Given the description of an element on the screen output the (x, y) to click on. 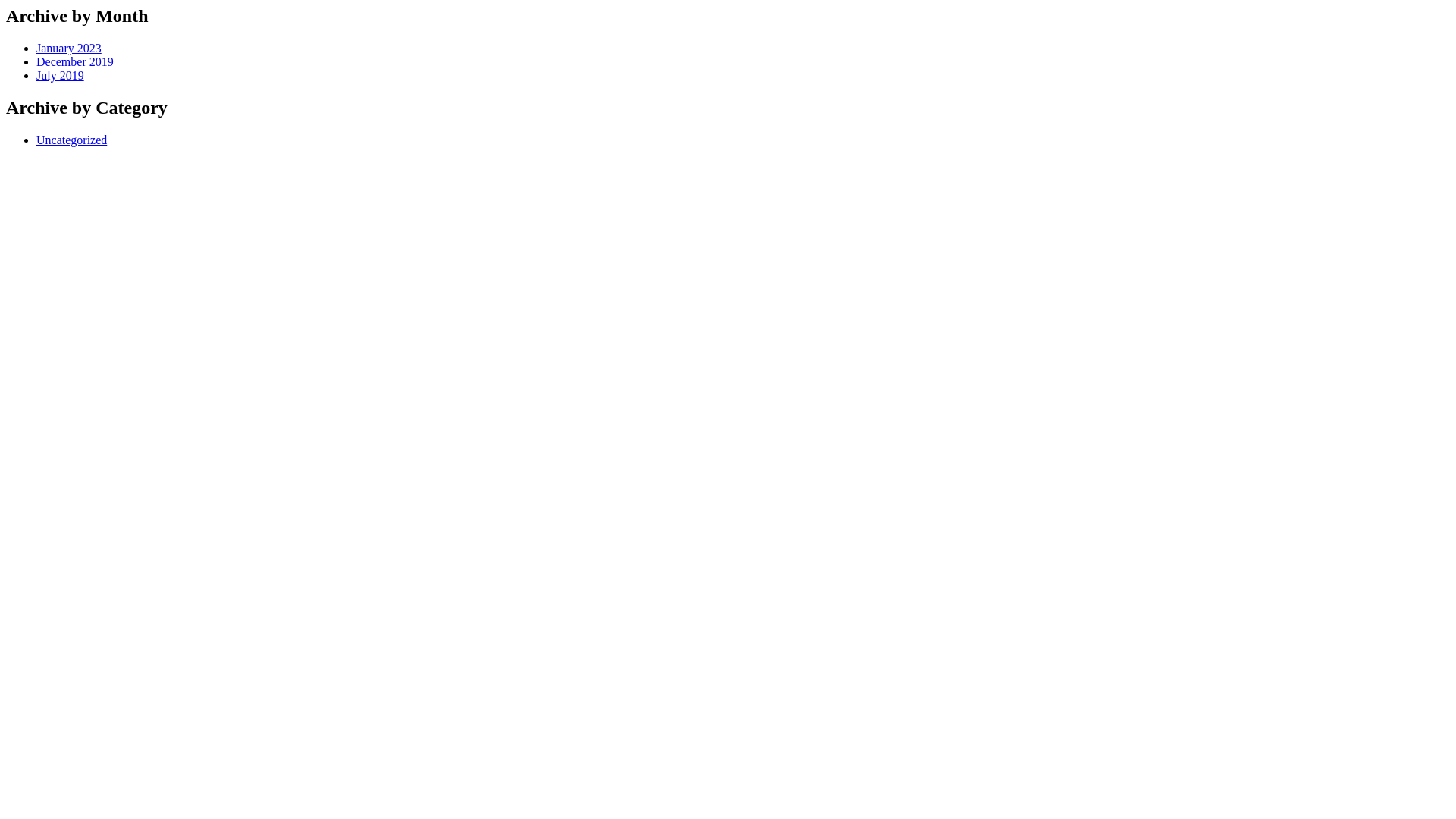
Uncategorized Element type: text (71, 139)
December 2019 Element type: text (74, 61)
July 2019 Element type: text (60, 75)
January 2023 Element type: text (68, 47)
